Given the description of an element on the screen output the (x, y) to click on. 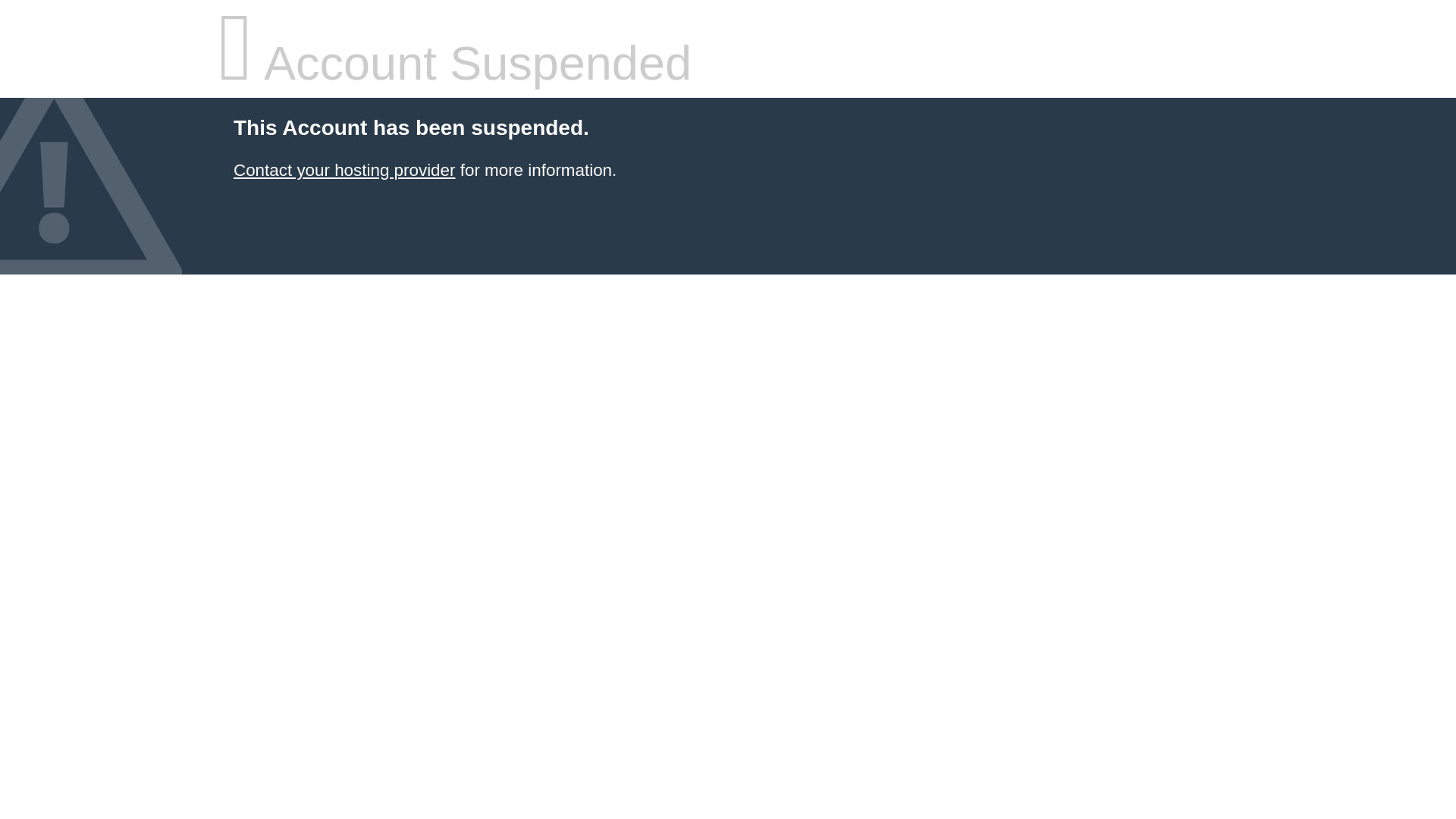
Contact your hosting provider (343, 169)
